Given the description of an element on the screen output the (x, y) to click on. 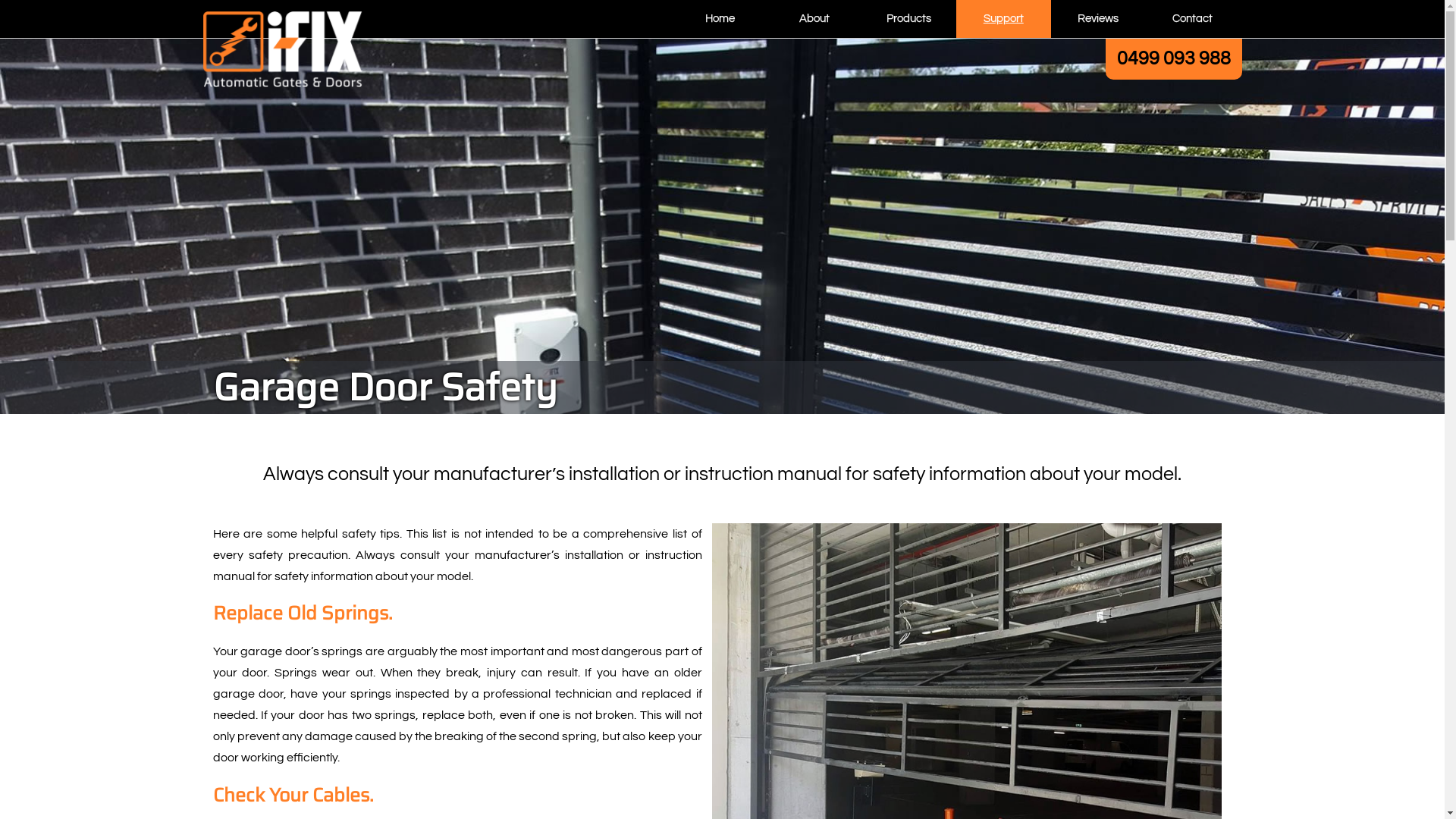
Home Element type: text (720, 18)
About Element type: text (814, 18)
Reviews Element type: text (1098, 18)
Contact Element type: text (1192, 18)
Products Element type: text (908, 18)
Support Element type: text (1003, 18)
